Given the description of an element on the screen output the (x, y) to click on. 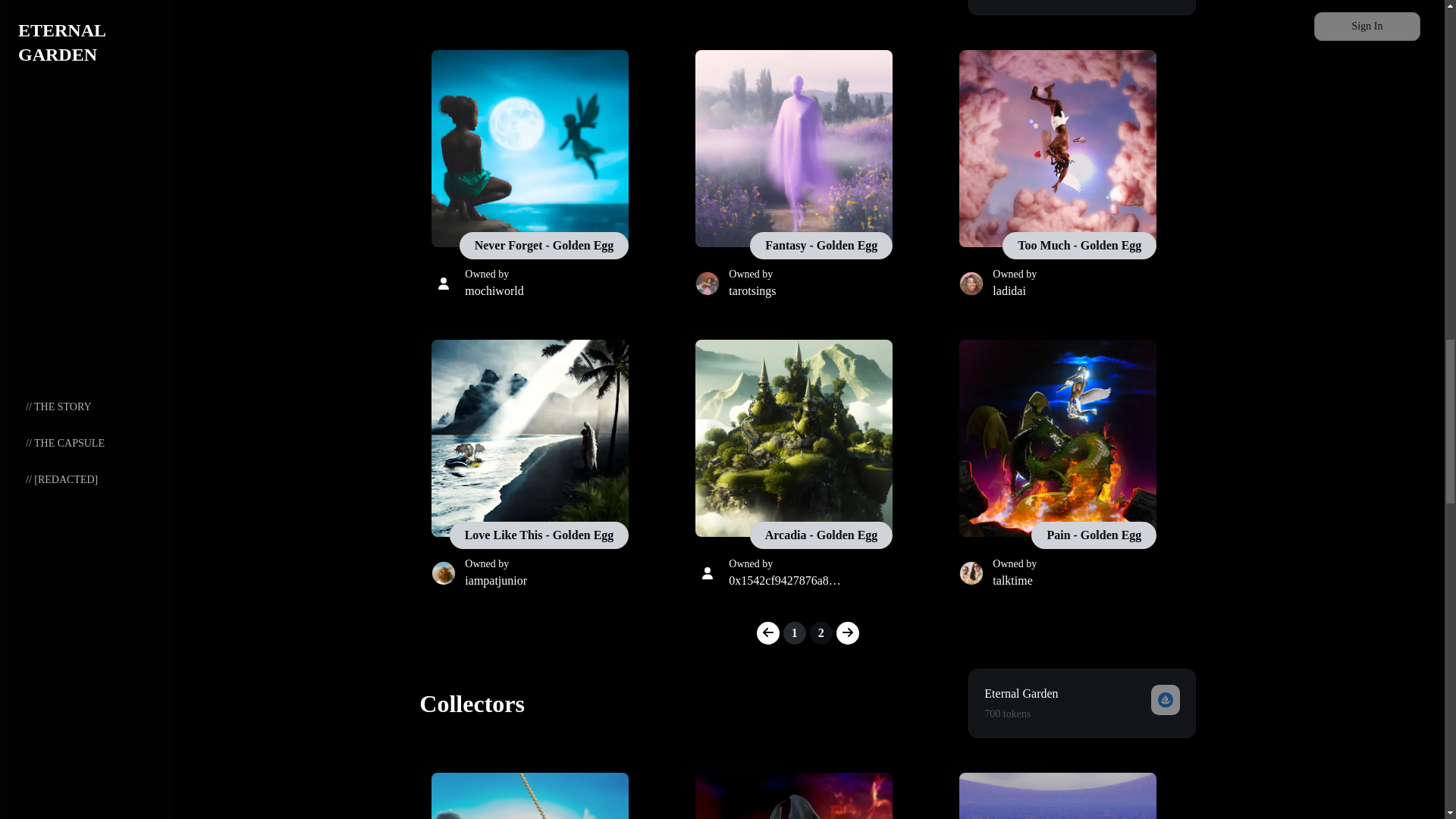
1 (794, 632)
2 (820, 632)
